Given the description of an element on the screen output the (x, y) to click on. 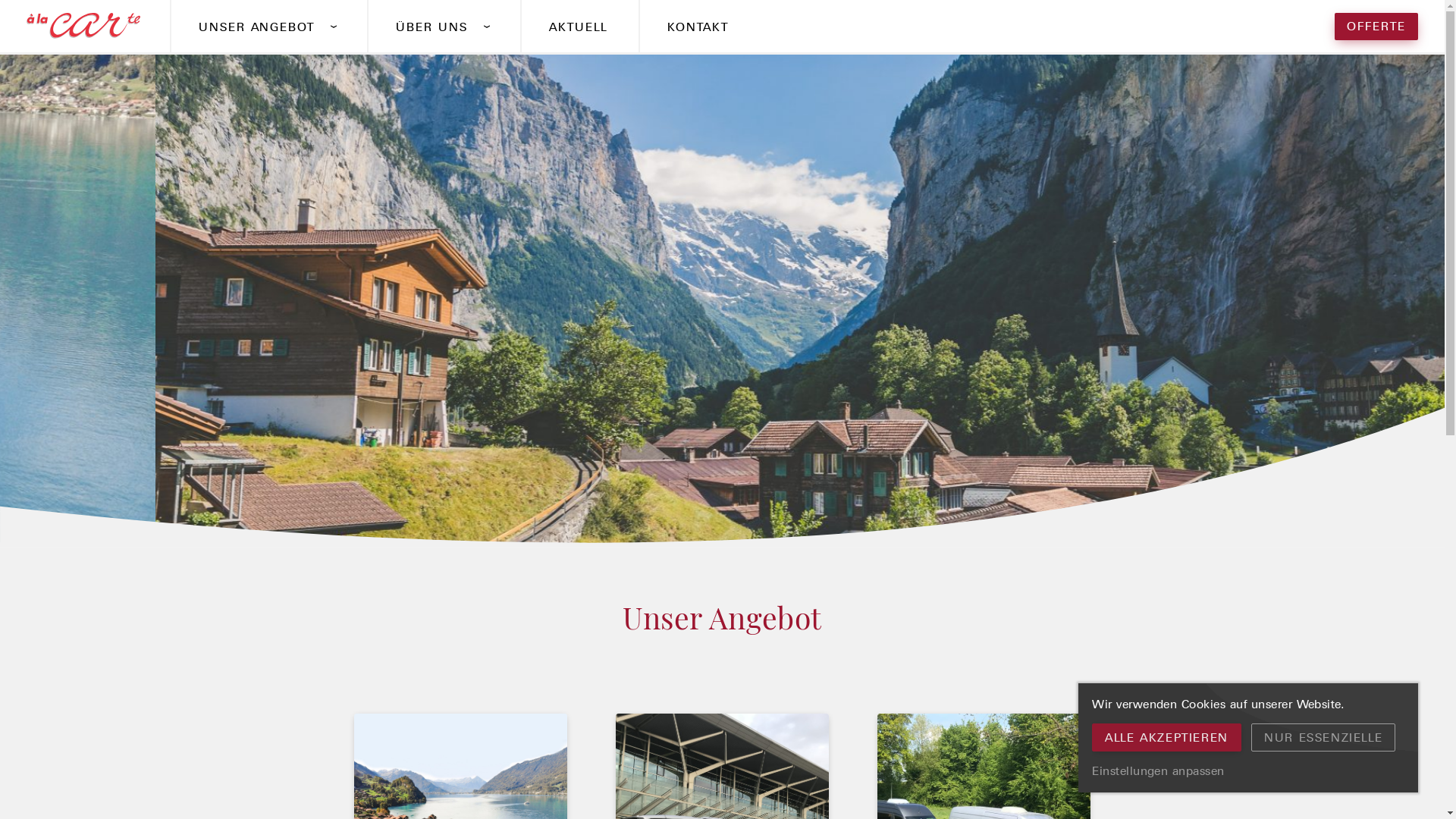
AKTUELL Element type: text (577, 27)
UNSER ANGEBOT Element type: text (267, 27)
OFFERTE Element type: text (1375, 26)
KONTAKT Element type: text (697, 27)
